Given the description of an element on the screen output the (x, y) to click on. 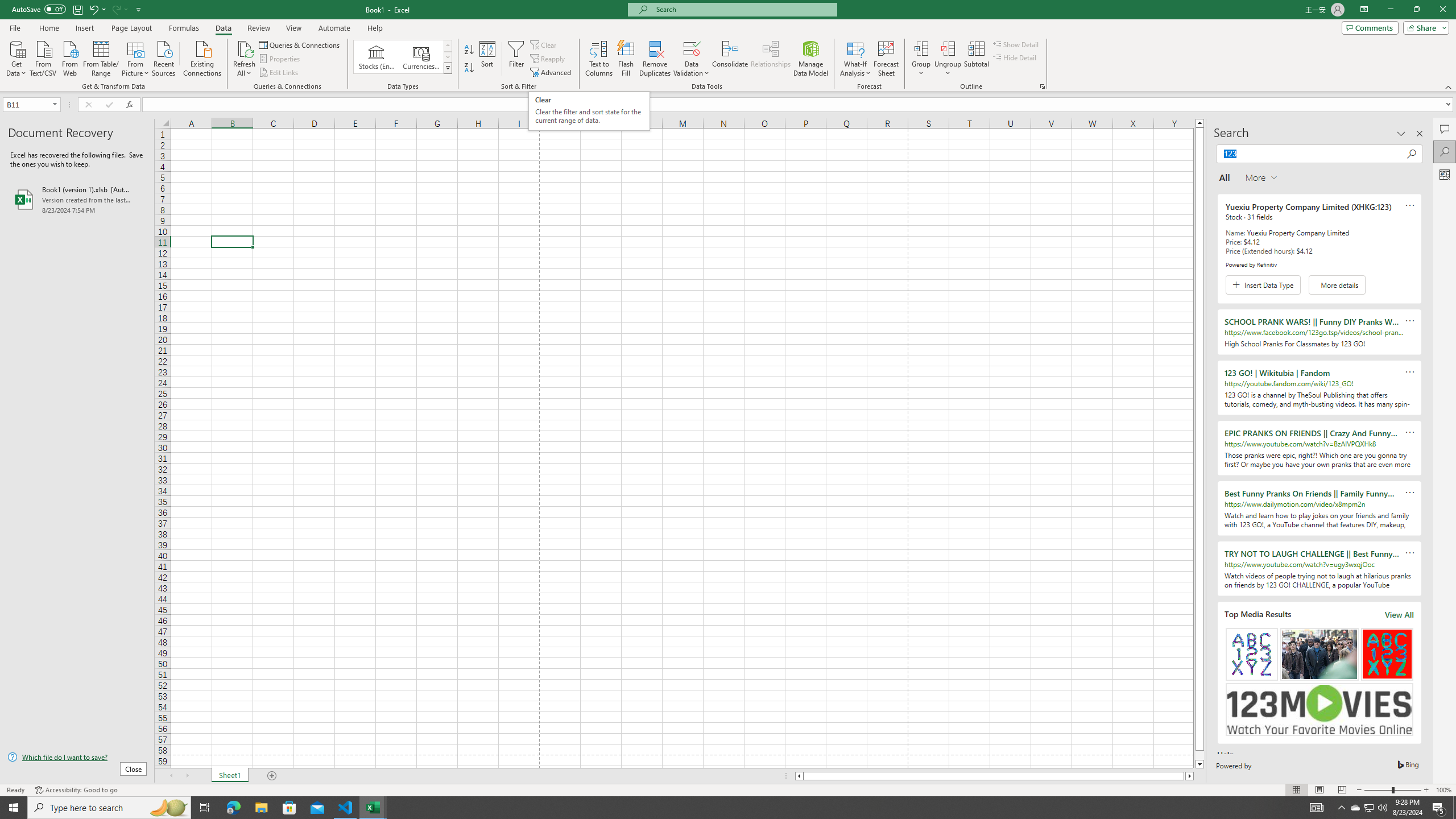
Sort... (487, 58)
Sort Z to A (469, 67)
Hide Detail (1014, 56)
